Given the description of an element on the screen output the (x, y) to click on. 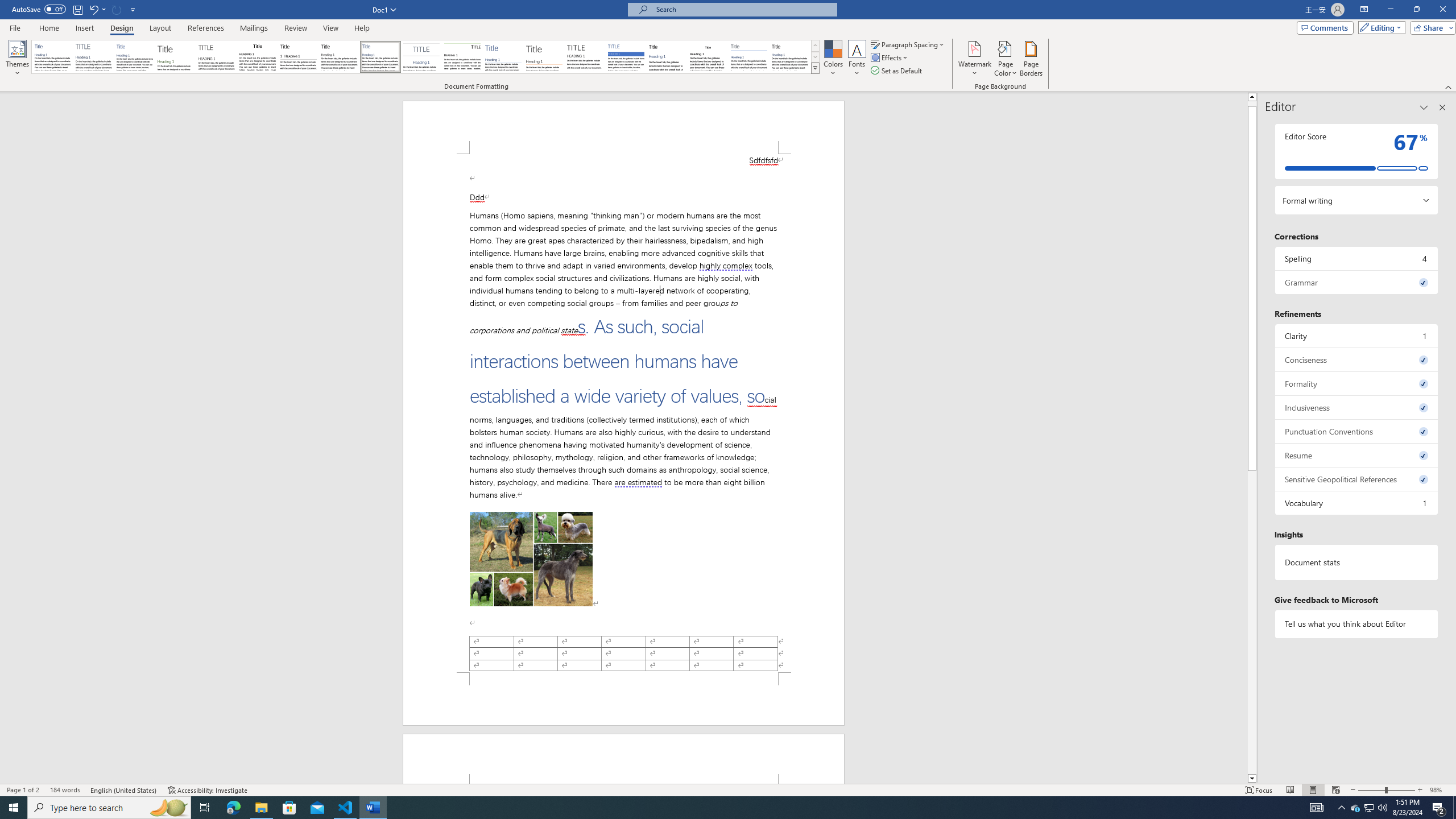
Editor Score 67% (1356, 151)
Word 2013 (790, 56)
Document statistics (1356, 561)
Grammar, 0 issues. Press space or enter to review items. (1356, 282)
Word 2003 (707, 56)
Black & White (Capitalized) (216, 56)
Basic (Stylish) (175, 56)
AutomationID: QuickStylesSets (425, 56)
